Given the description of an element on the screen output the (x, y) to click on. 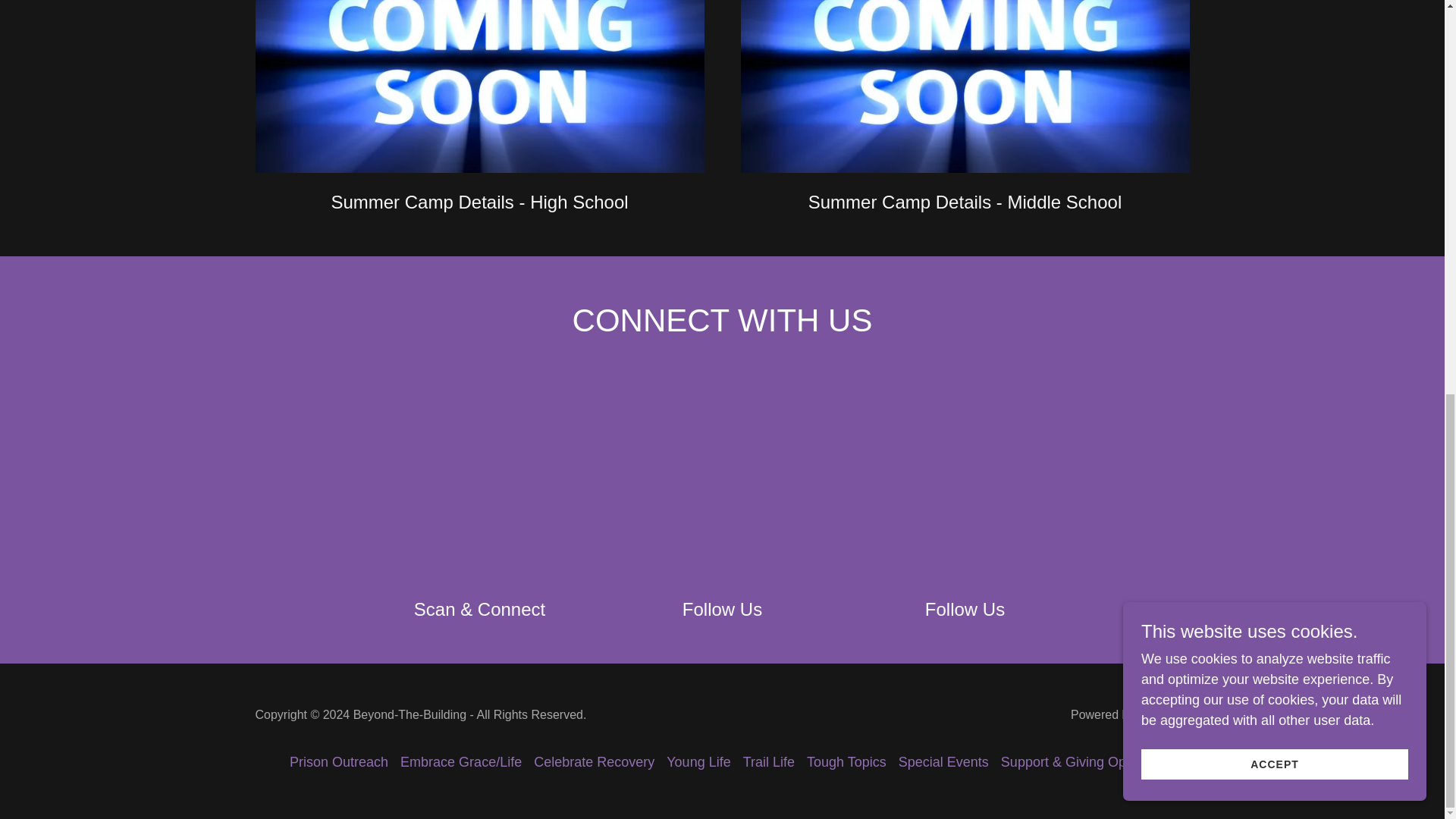
GoDaddy (1163, 714)
Young Life (698, 762)
Celebrate Recovery (594, 762)
Tough Topics (846, 762)
Trail Life (768, 762)
Prison Outreach (338, 762)
